Given the description of an element on the screen output the (x, y) to click on. 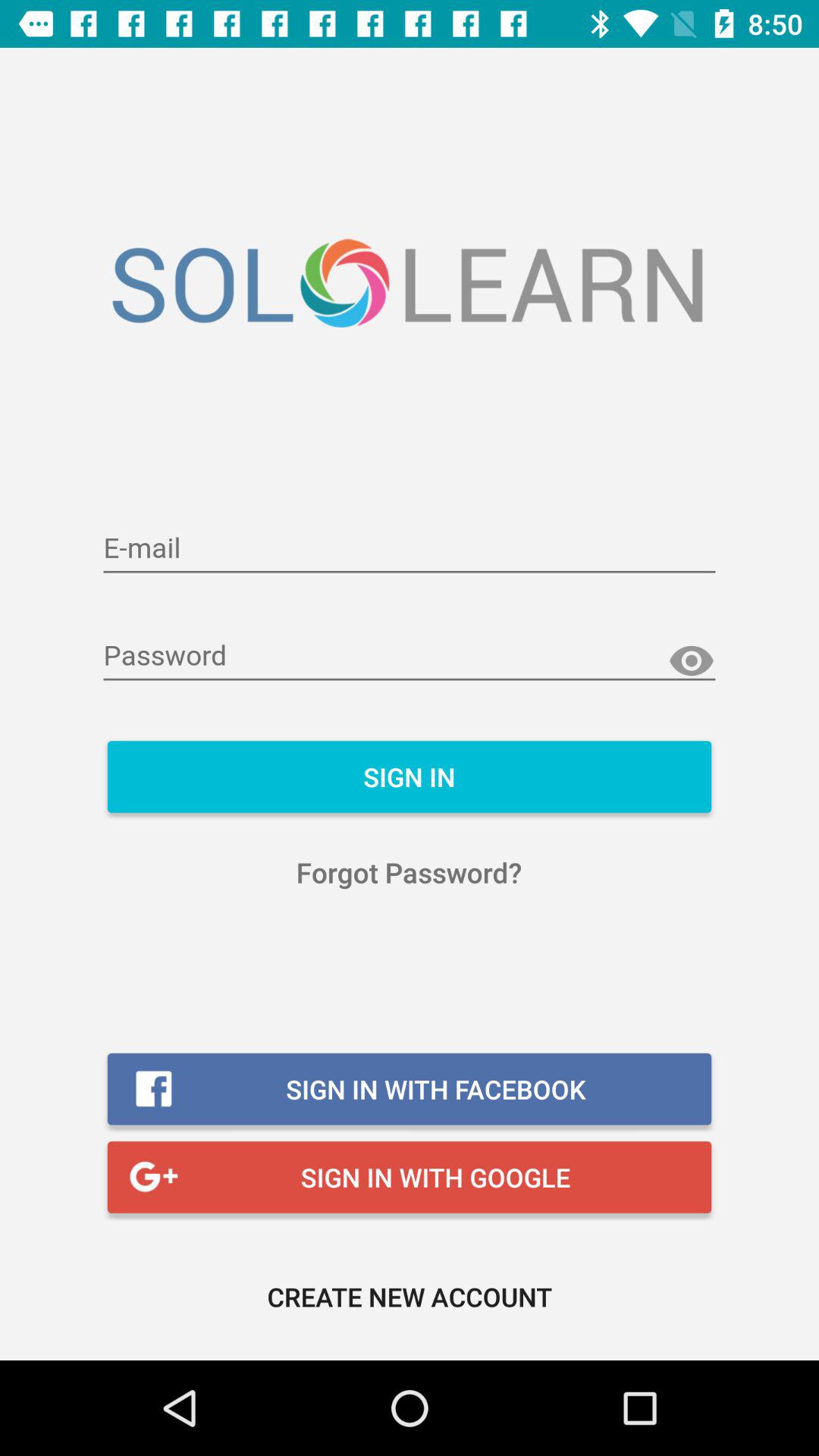
launch item below sign in with icon (409, 1296)
